Given the description of an element on the screen output the (x, y) to click on. 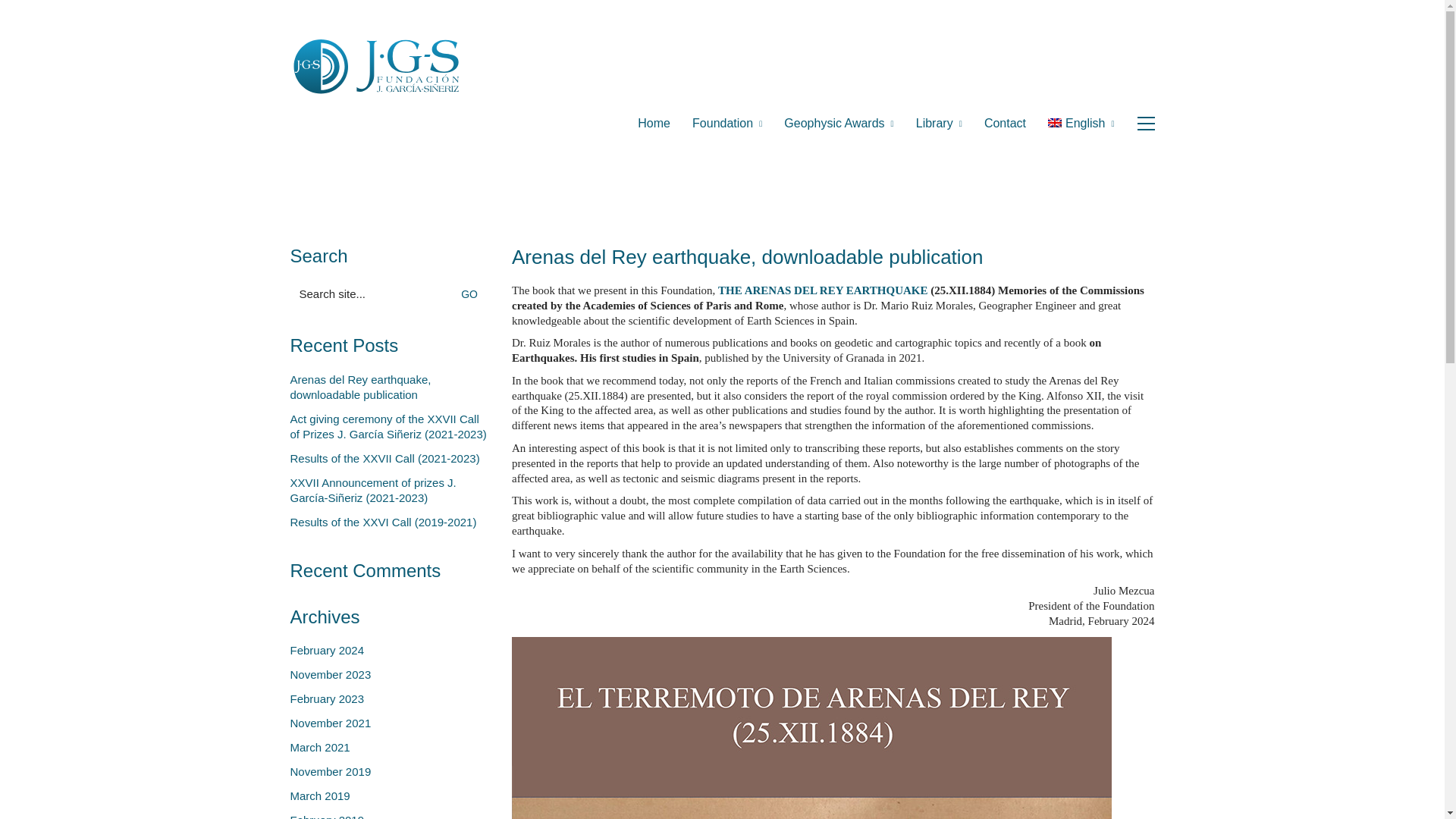
Geophysic Awards (838, 123)
Contact (1005, 123)
Home (653, 123)
Go (473, 293)
Library (938, 123)
Foundation (727, 123)
English (1080, 123)
Search for: (389, 293)
Go (473, 293)
